Given the description of an element on the screen output the (x, y) to click on. 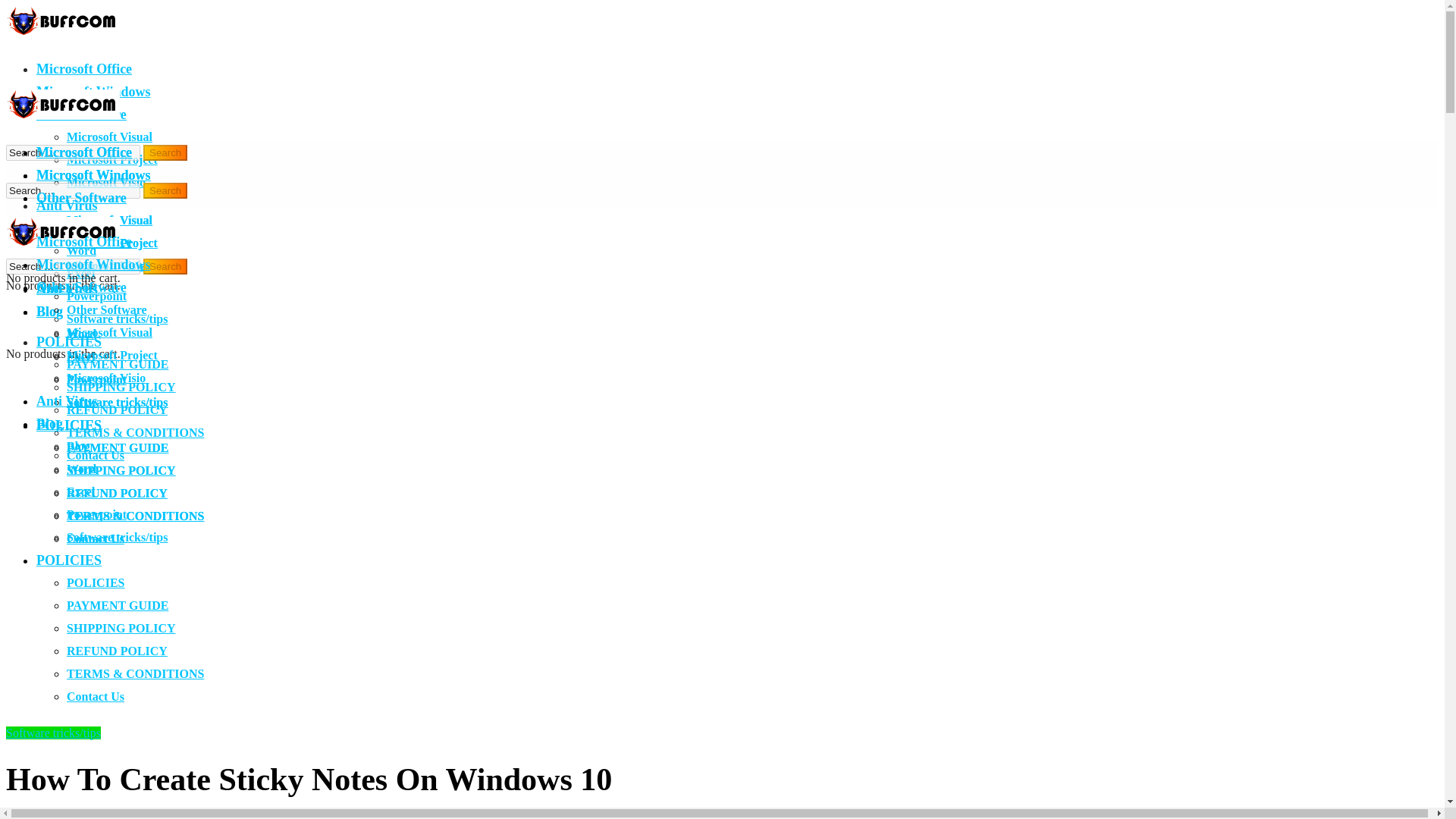
Microsoft Windows (93, 91)
Contact Us (94, 538)
Search (164, 152)
POLICIES (68, 425)
SHIPPING POLICY (121, 386)
Word (81, 250)
Blog (49, 227)
Search (164, 266)
SHIPPING POLICY (121, 470)
Microsoft Windows (93, 174)
Microsoft Visual (109, 219)
Search (164, 152)
Microsoft Project (111, 159)
Search (164, 190)
Search (164, 266)
